Given the description of an element on the screen output the (x, y) to click on. 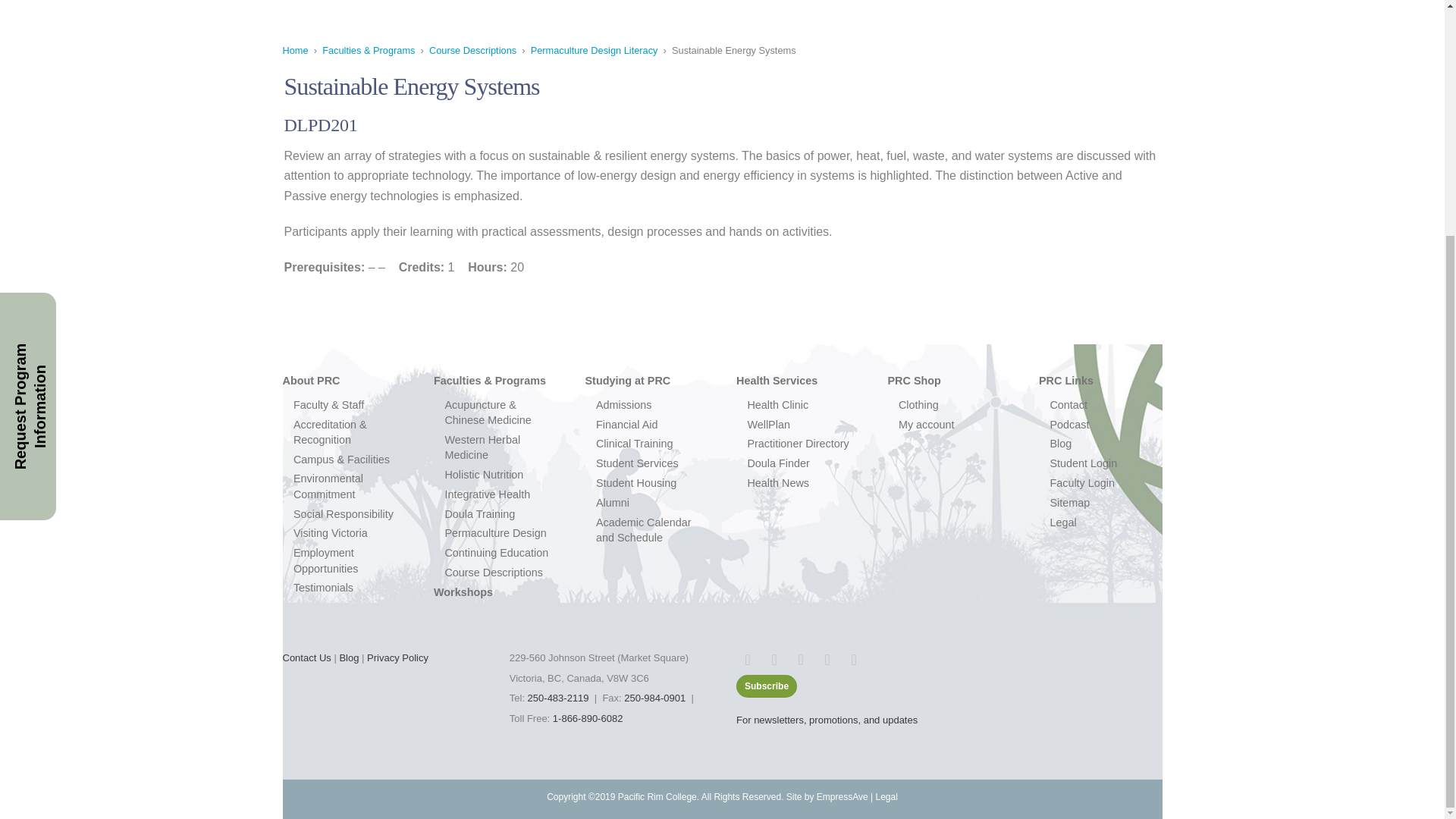
Go to Course Descriptions. (472, 50)
Go to Pacific Rim College. (294, 50)
